Given the description of an element on the screen output the (x, y) to click on. 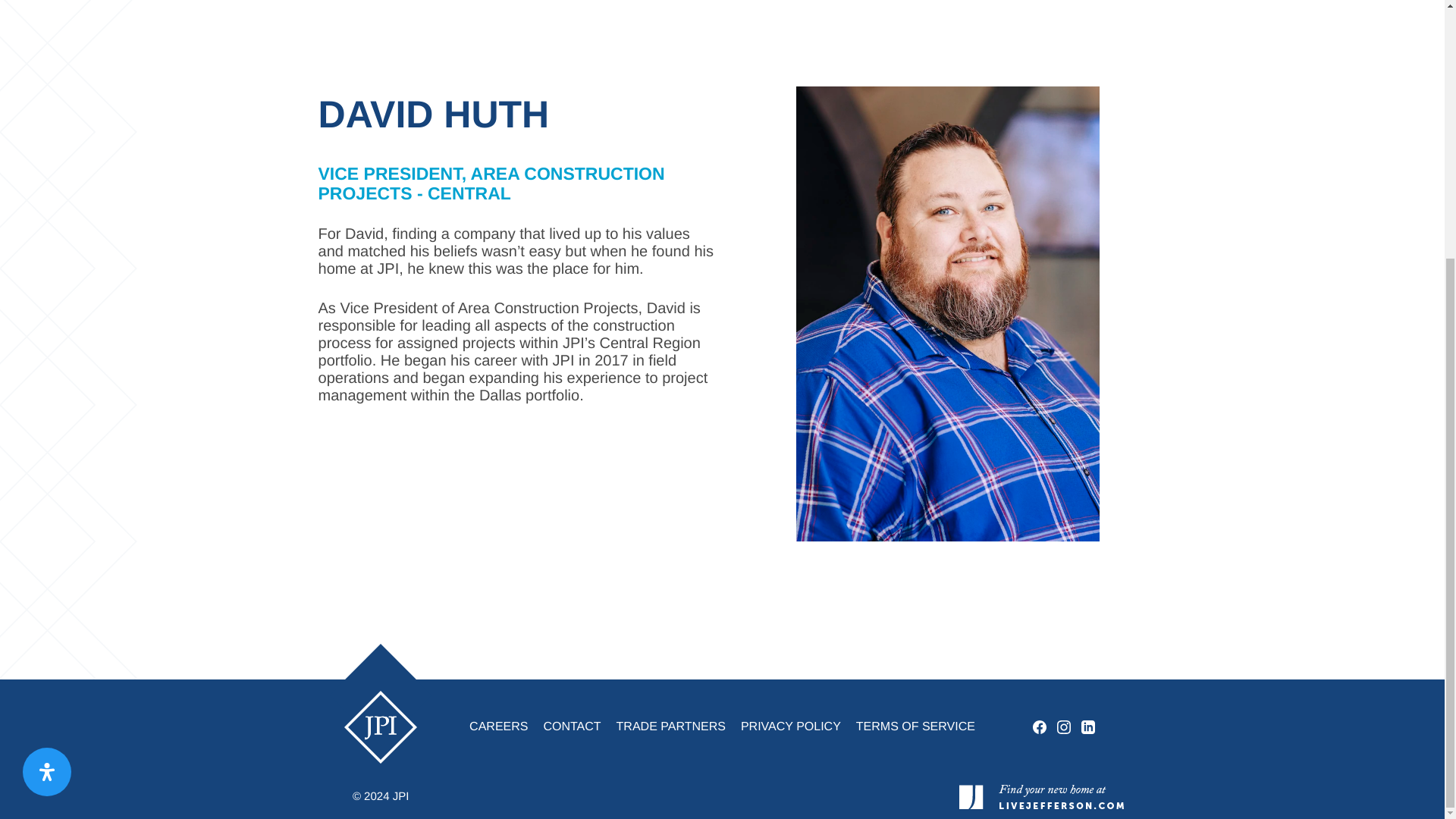
JPI LinkedIn Link (1087, 727)
CAREERS (498, 726)
TRADE PARTNERS (670, 726)
Live Jefferson Website Link (1042, 795)
CONTACT (571, 726)
JPI Facebook Link (1039, 727)
PRIVACY POLICY (790, 726)
JPI Instagram Link (1063, 727)
Accessibility (47, 403)
TERMS OF SERVICE (915, 726)
